Given the description of an element on the screen output the (x, y) to click on. 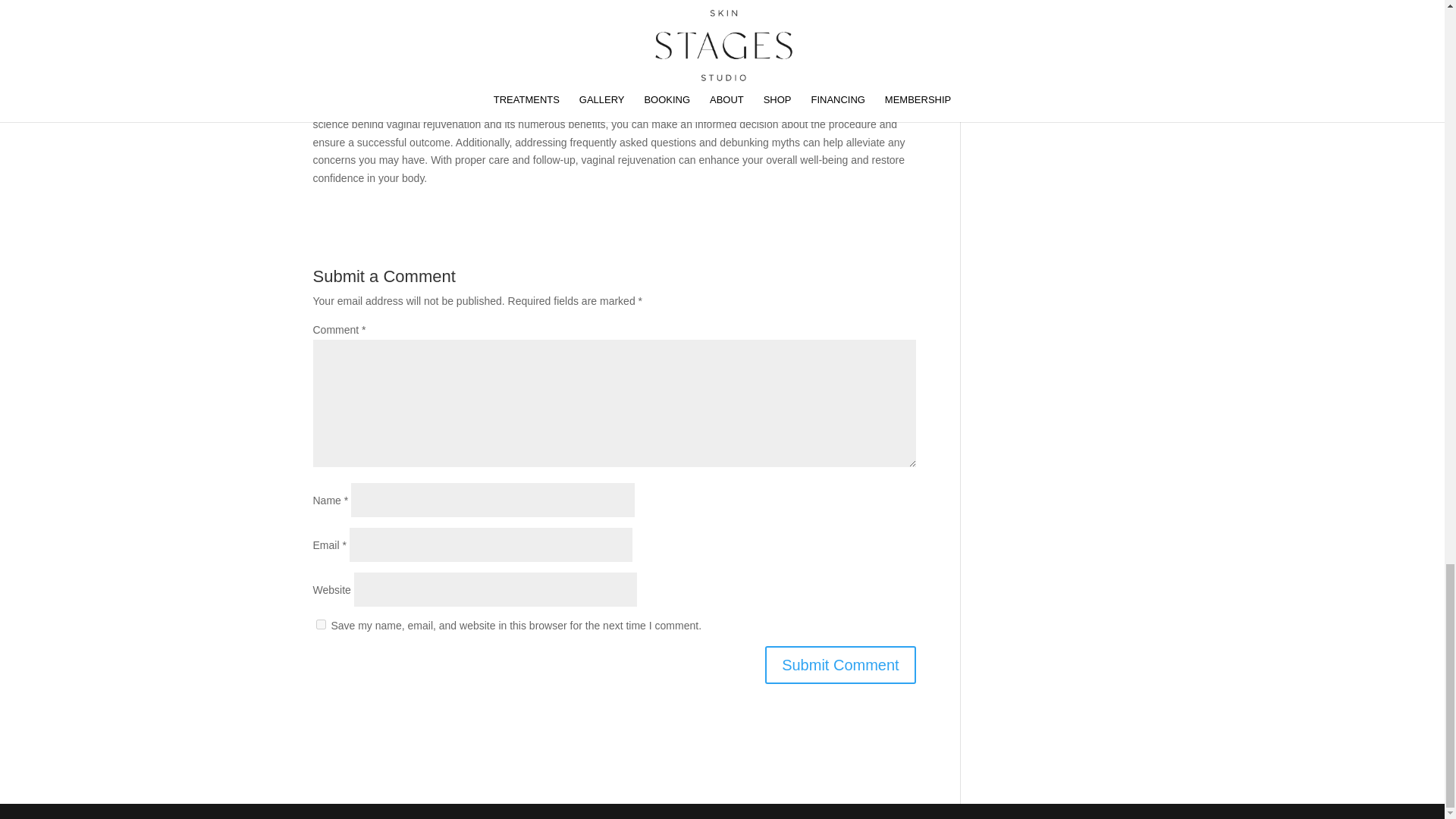
Submit Comment (840, 664)
yes (319, 624)
Submit Comment (840, 664)
